Given the description of an element on the screen output the (x, y) to click on. 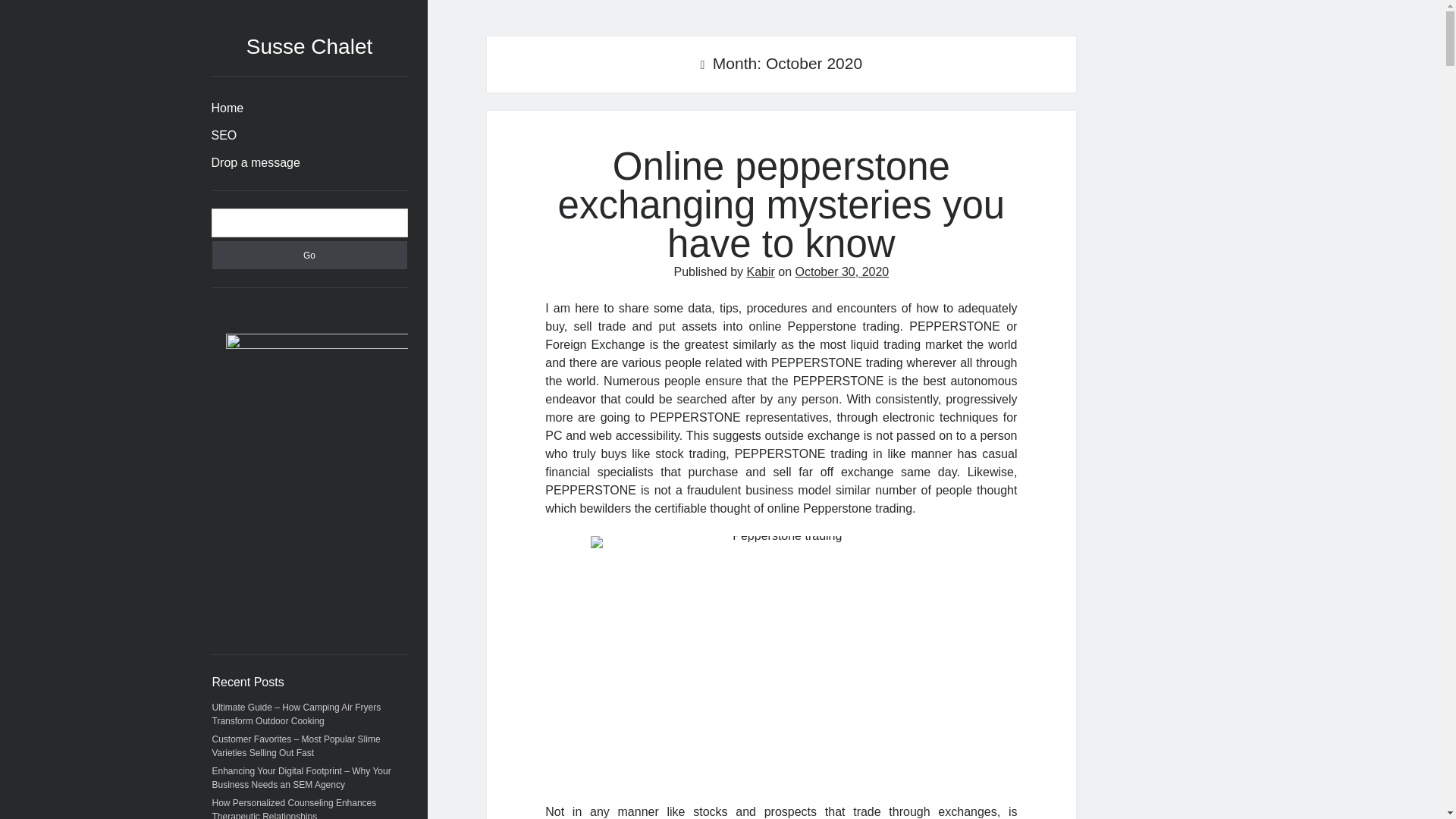
Susse Chalet (309, 46)
Go (309, 254)
Drop a message (255, 162)
Go (309, 254)
SEO (223, 135)
Home (227, 108)
Search for: (309, 222)
Go (309, 254)
